Given the description of an element on the screen output the (x, y) to click on. 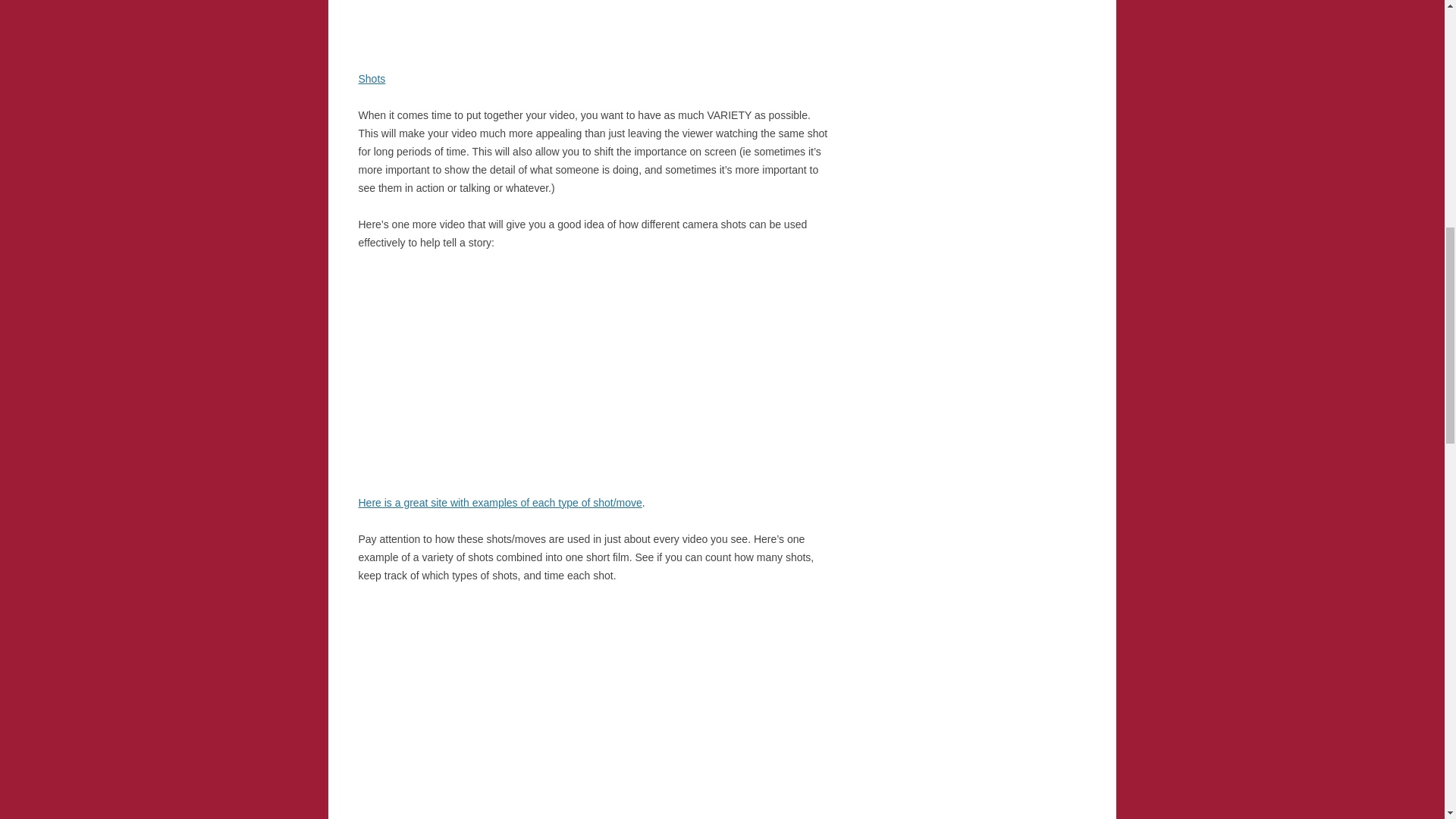
Shots (371, 78)
